Given the description of an element on the screen output the (x, y) to click on. 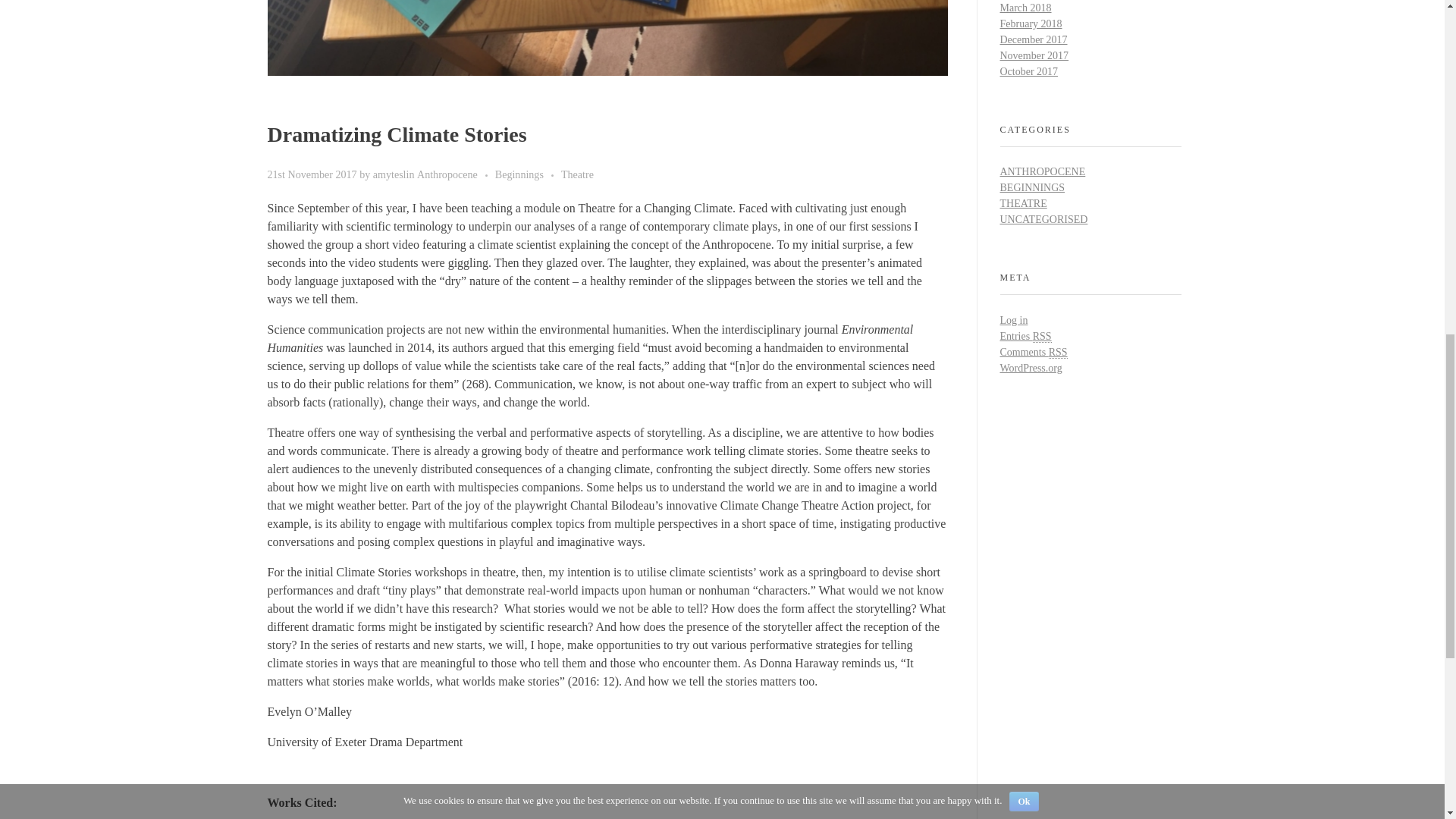
View all posts in Beginnings (527, 174)
THEATRE (1022, 203)
February 2018 (1029, 23)
UNCATEGORISED (1042, 219)
November 2017 (1033, 55)
View all posts by amyteslin (394, 174)
BEGINNINGS (1031, 187)
ANTHROPOCENE (1041, 171)
Really Simple Syndication (1041, 336)
